Given the description of an element on the screen output the (x, y) to click on. 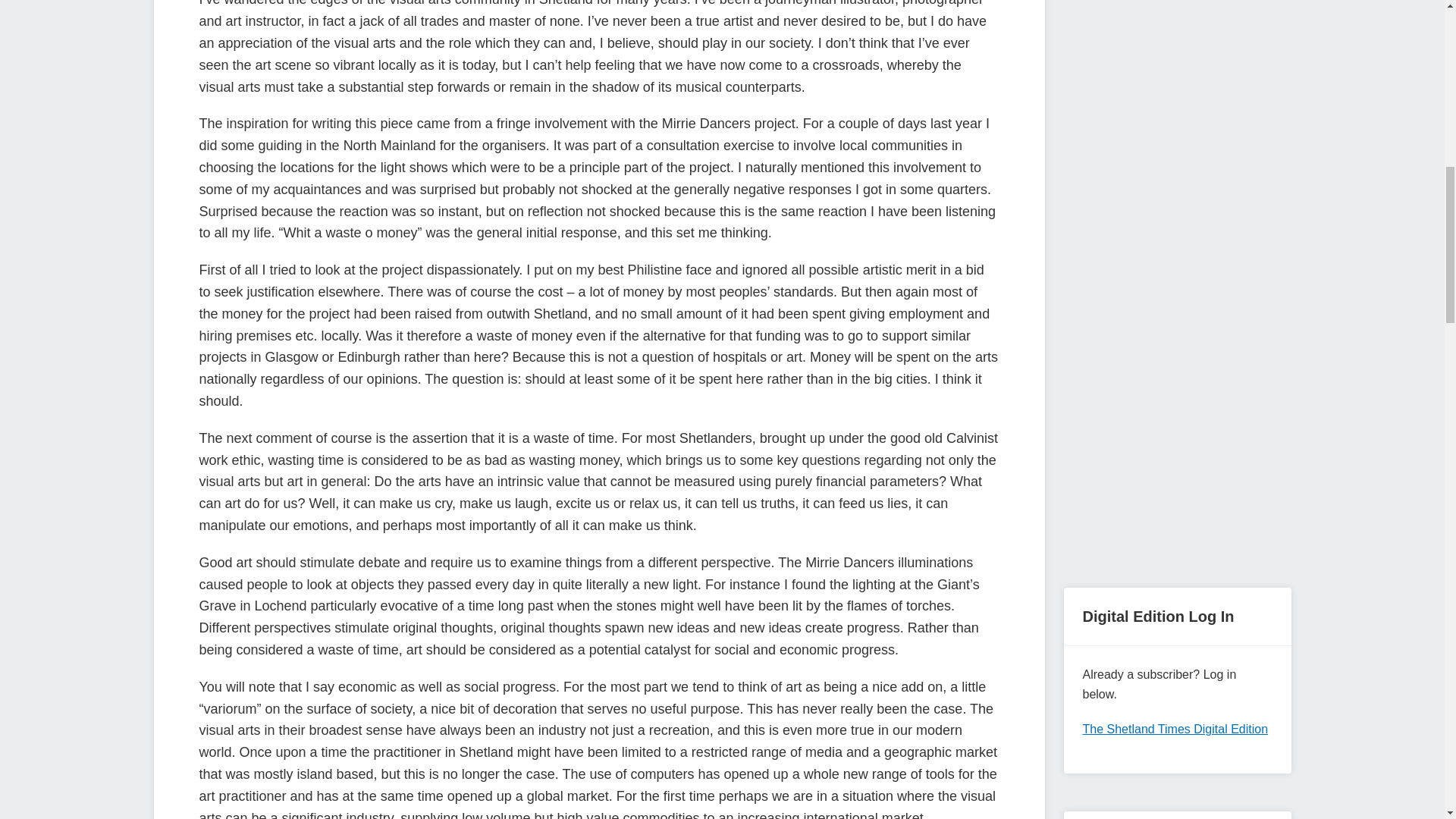
3rd party ad content (1176, 62)
3rd party ad content (1176, 242)
3rd party ad content (1176, 454)
